Given the description of an element on the screen output the (x, y) to click on. 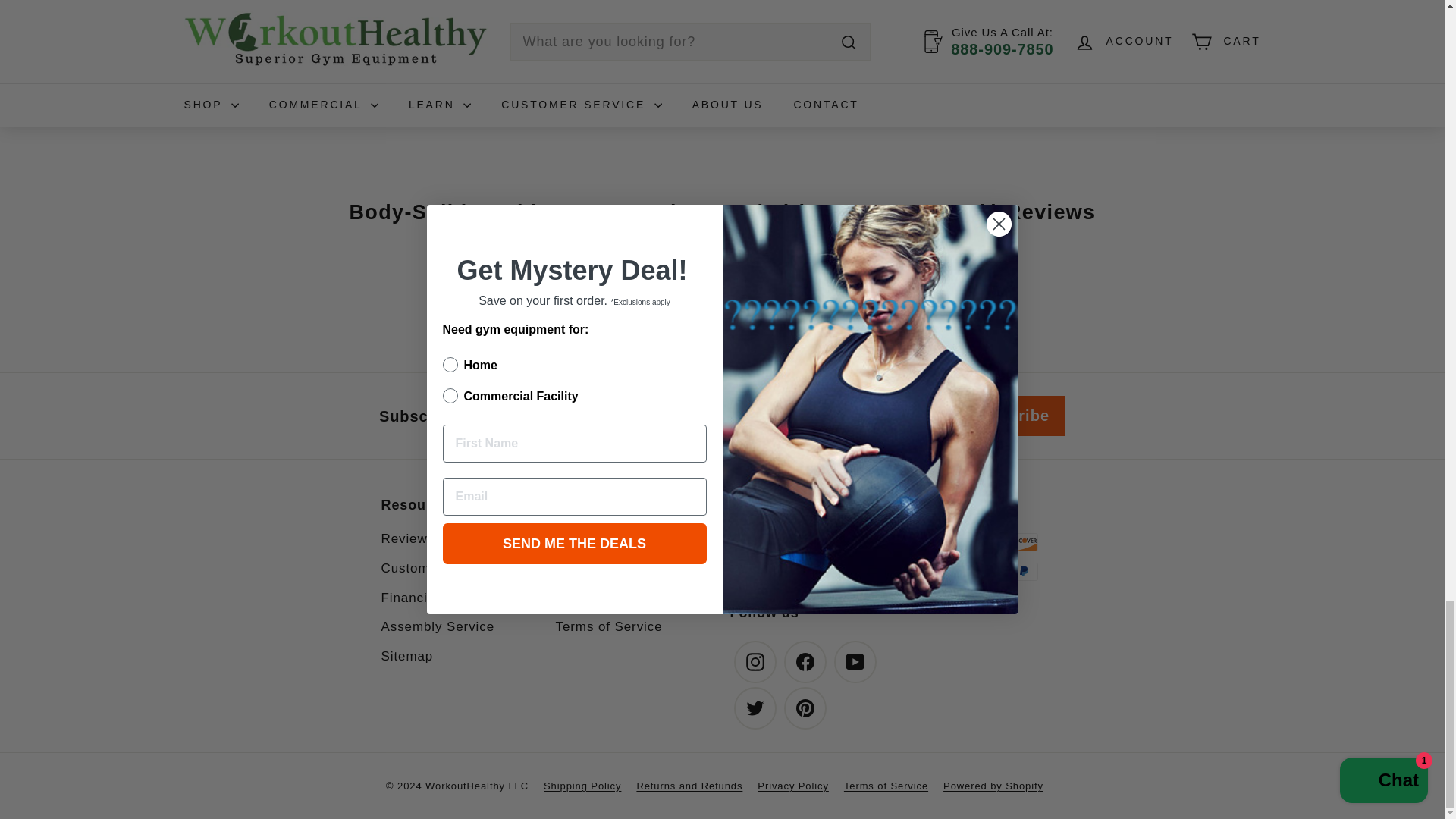
WorkoutHealthy LLC on Instagram (754, 661)
WorkoutHealthy LLC on YouTube (855, 661)
WorkoutHealthy LLC on Pinterest (805, 708)
WorkoutHealthy LLC on Twitter (754, 708)
WorkoutHealthy LLC on Facebook (805, 661)
